Given the description of an element on the screen output the (x, y) to click on. 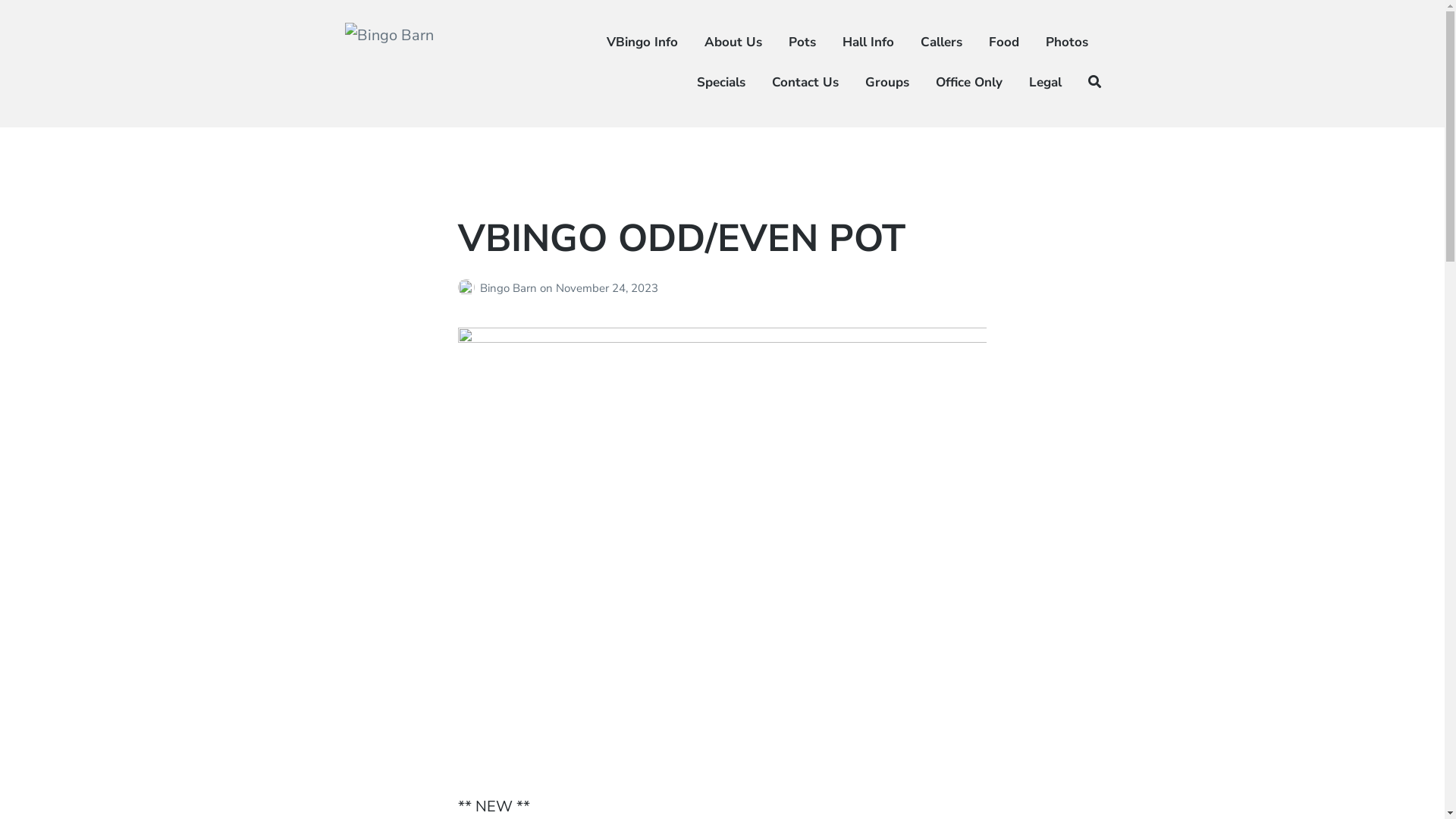
VBingo Info Element type: text (641, 42)
Contact Us Element type: text (804, 82)
Legal Element type: text (1045, 82)
Food Element type: text (1003, 42)
About Us Element type: text (733, 42)
Office Only Element type: text (968, 82)
VBINGO ODD/EVEN POT Element type: text (681, 238)
Bingo Barn Element type: text (396, 116)
Hall Info Element type: text (868, 42)
Specials Element type: text (720, 82)
Pots Element type: text (801, 42)
Groups Element type: text (887, 82)
Callers Element type: text (941, 42)
Bingo Barn Element type: text (509, 287)
Photos Element type: text (1066, 42)
Posts by Bingo Barn Element type: hover (469, 287)
